Given the description of an element on the screen output the (x, y) to click on. 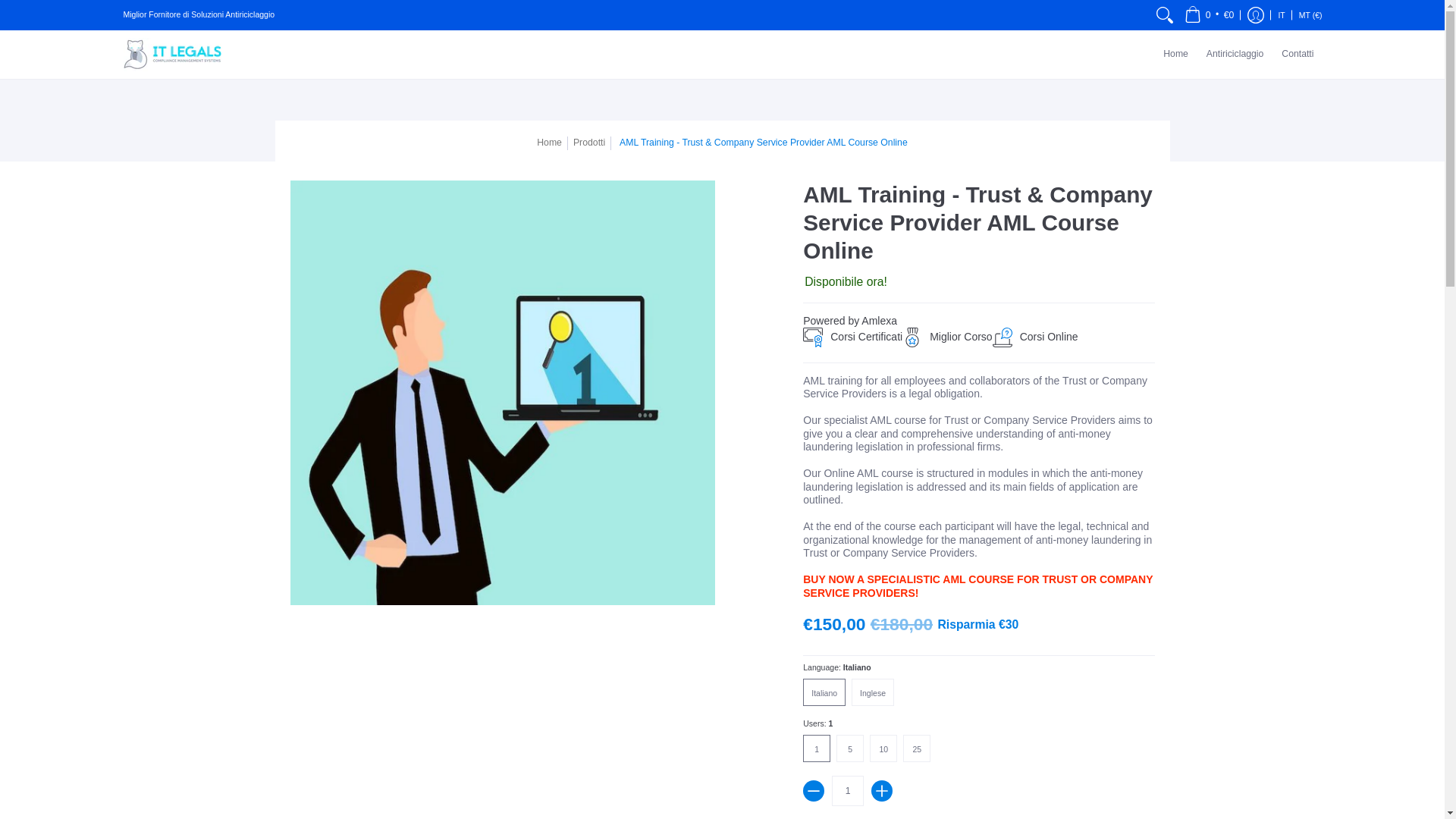
Accedi (1255, 15)
Italian (827, 691)
1 (819, 748)
Aggiorna la valuta del negozio (1310, 15)
5 (852, 748)
1 (847, 790)
English (875, 691)
25 (919, 748)
IT (1281, 15)
Carrello (1209, 15)
Cerca (1164, 15)
Aggiorna la lingua del negozio (1281, 15)
10 (885, 748)
